Given the description of an element on the screen output the (x, y) to click on. 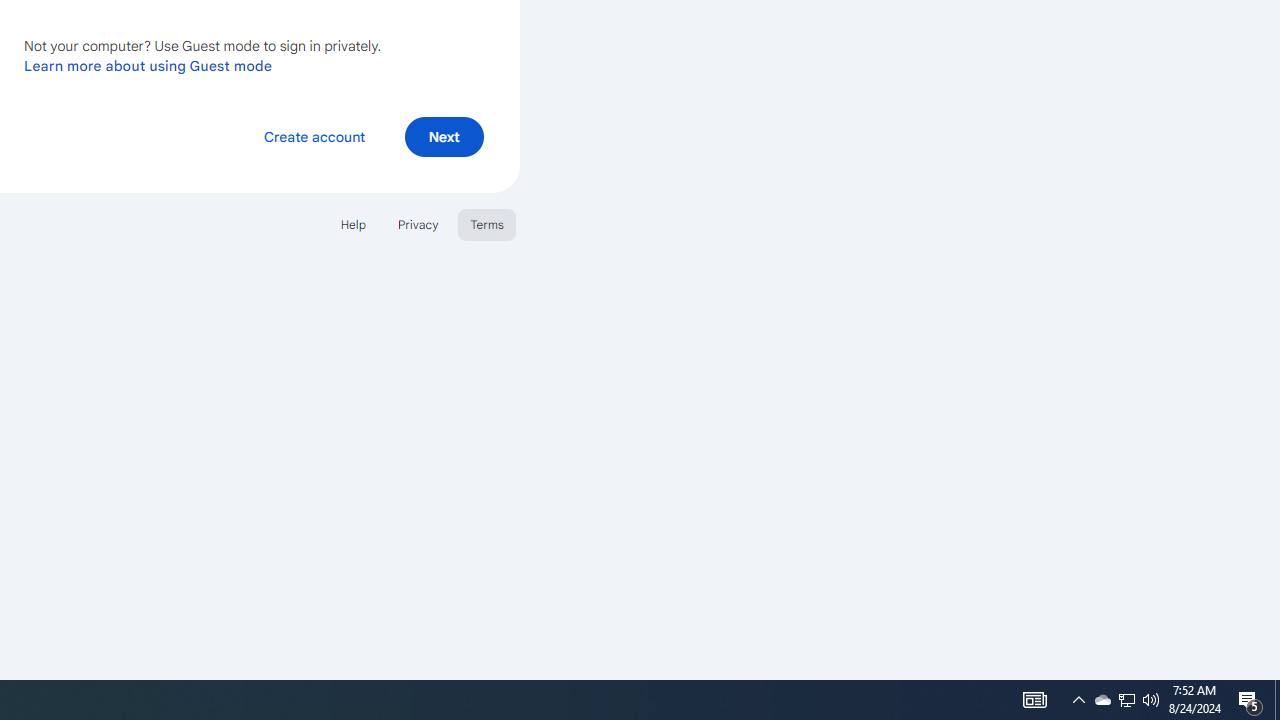
Learn more about using Guest mode (148, 65)
Create account (314, 135)
